Given the description of an element on the screen output the (x, y) to click on. 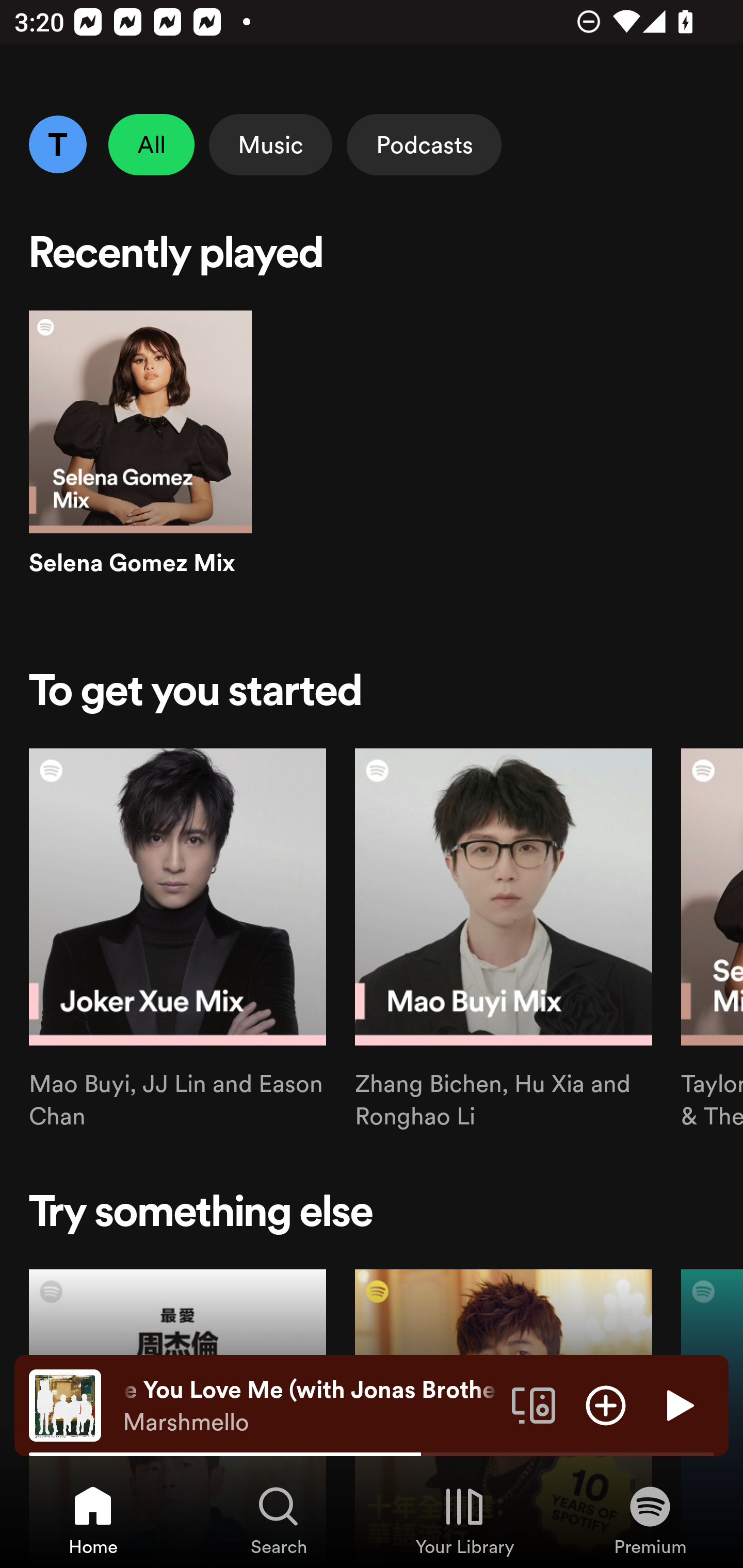
Profile (57, 144)
All Unselect All (151, 144)
Music Select Music (270, 144)
Podcasts Select Podcasts (423, 144)
Selena Gomez Mix (139, 460)
The cover art of the currently playing track (64, 1404)
Connect to a device. Opens the devices menu (533, 1404)
Add item (605, 1404)
Play (677, 1404)
Home, Tab 1 of 4 Home Home (92, 1519)
Search, Tab 2 of 4 Search Search (278, 1519)
Your Library, Tab 3 of 4 Your Library Your Library (464, 1519)
Premium, Tab 4 of 4 Premium Premium (650, 1519)
